Given the description of an element on the screen output the (x, y) to click on. 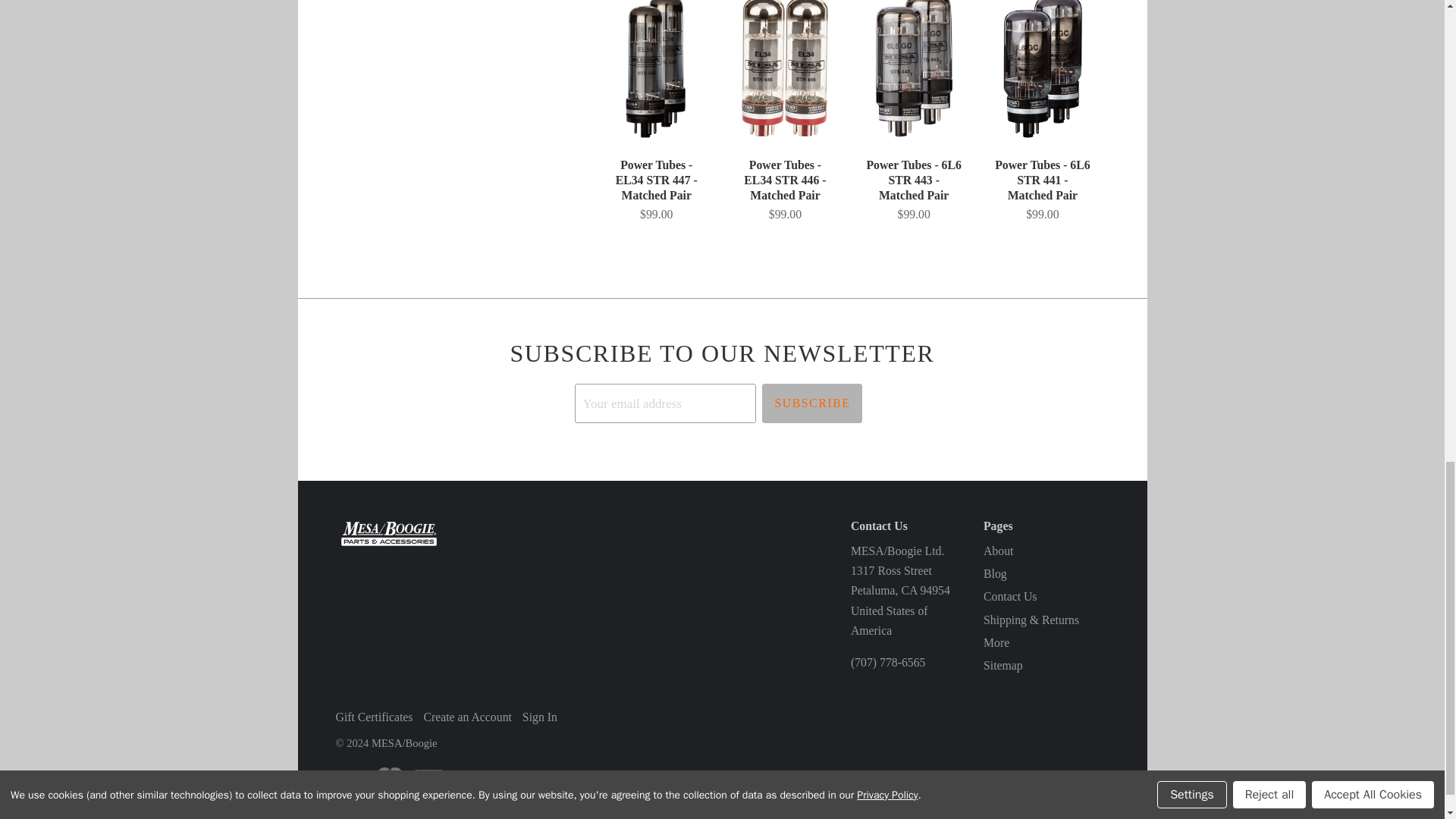
Power Tubes - EL34 STR 446 - Matched Pair (784, 190)
Visa (349, 774)
Power Tubes - 6L6 STR 443 - Matched Pair (913, 190)
Power Tubes - EL34 STR 447 - Matched Pair (656, 190)
Discover (467, 774)
Power Tubes - 6L6 STR 441 - Matched Pair (1042, 190)
Mastercard (389, 774)
American Express (428, 774)
Subscribe (811, 403)
